Given the description of an element on the screen output the (x, y) to click on. 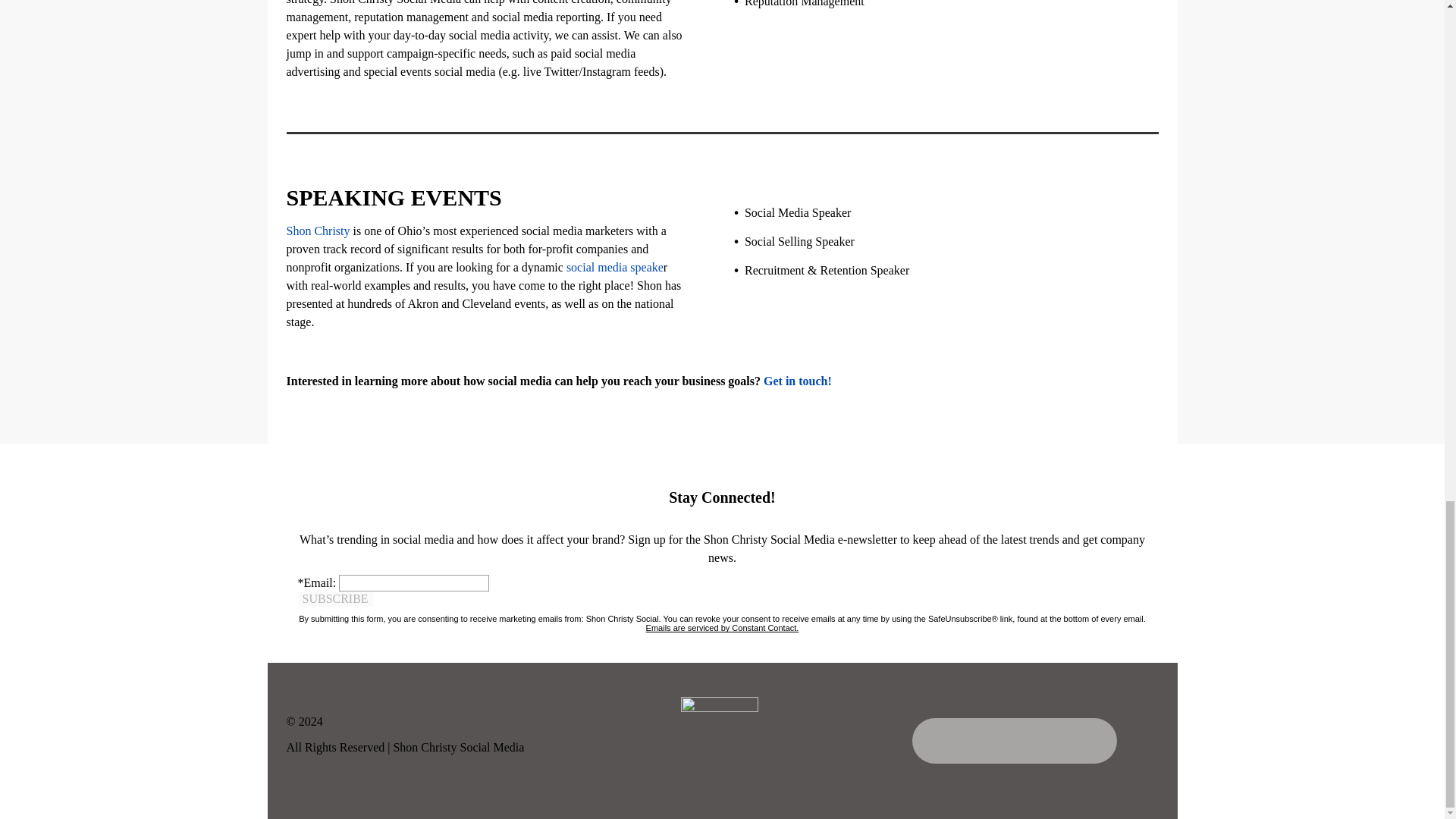
Shon Christy (318, 230)
SUBSCRIBE (334, 598)
Emails are serviced by Constant Contact. (722, 627)
Get in touch! (796, 380)
SUBSCRIBE (334, 598)
social media speake (614, 267)
